Given the description of an element on the screen output the (x, y) to click on. 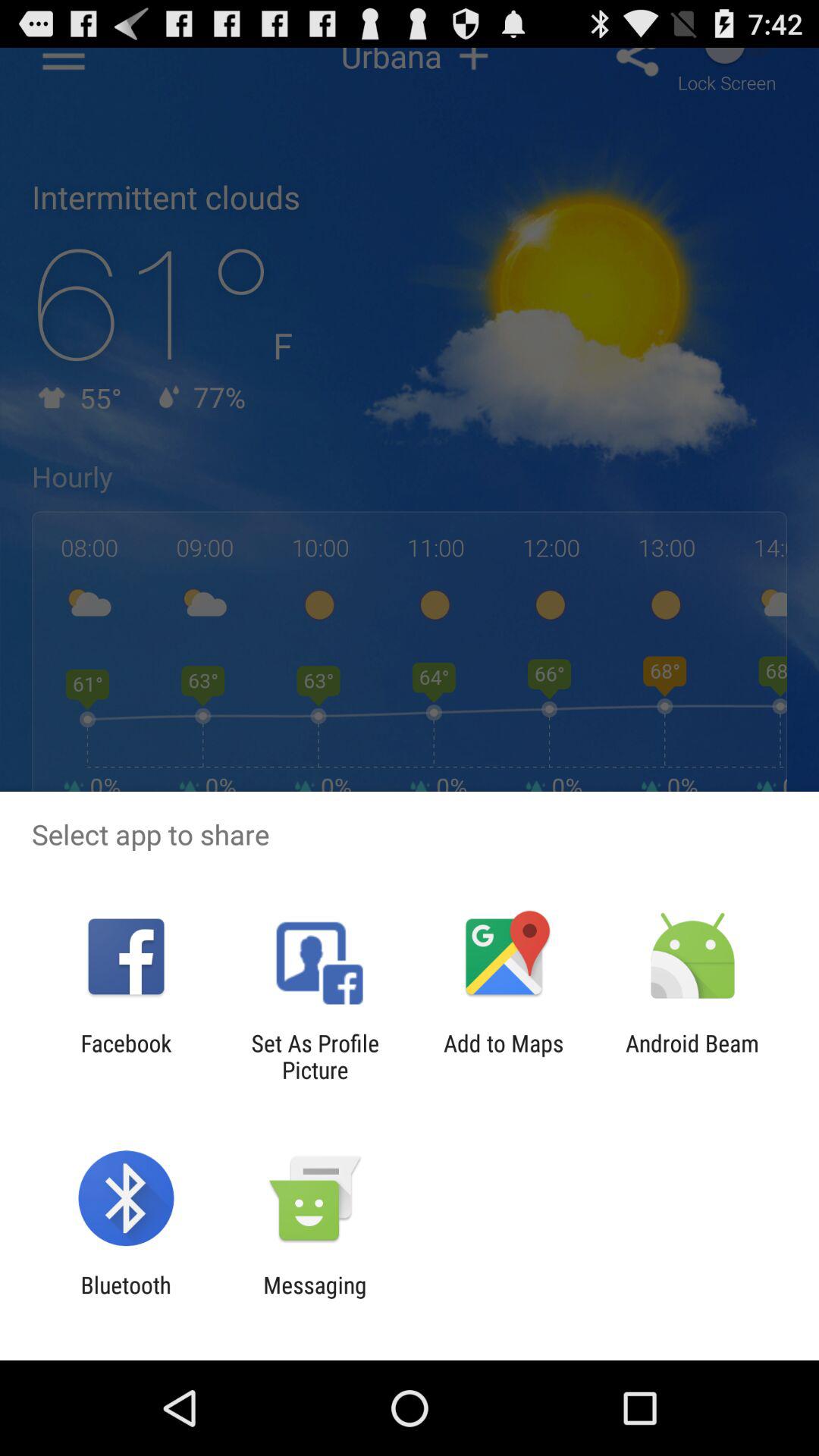
scroll until android beam icon (692, 1056)
